Given the description of an element on the screen output the (x, y) to click on. 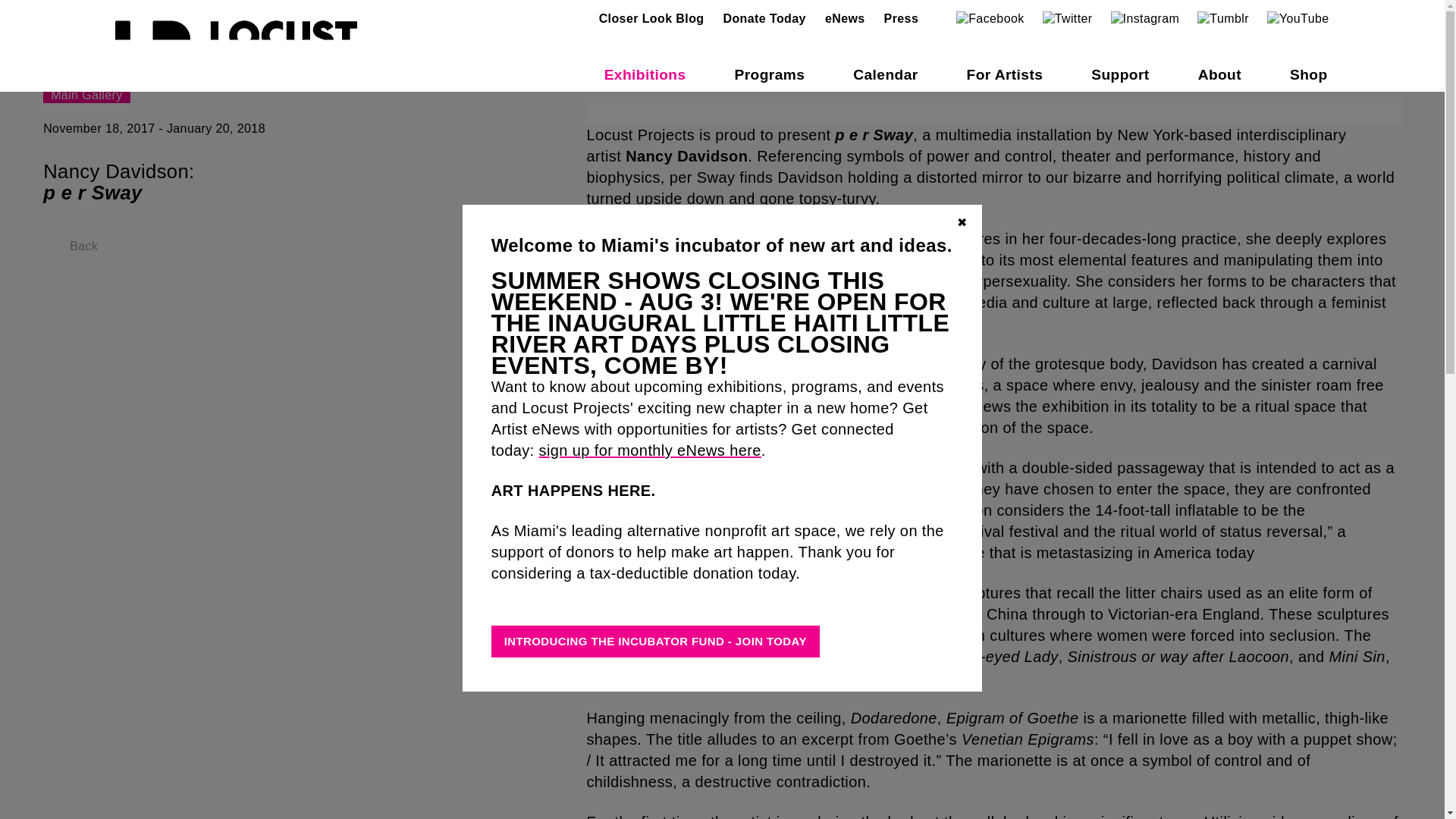
Calendar (884, 74)
Support (1119, 74)
Exhibitions (644, 74)
For Artists (1005, 74)
Programs (769, 74)
About (1219, 74)
